Given the description of an element on the screen output the (x, y) to click on. 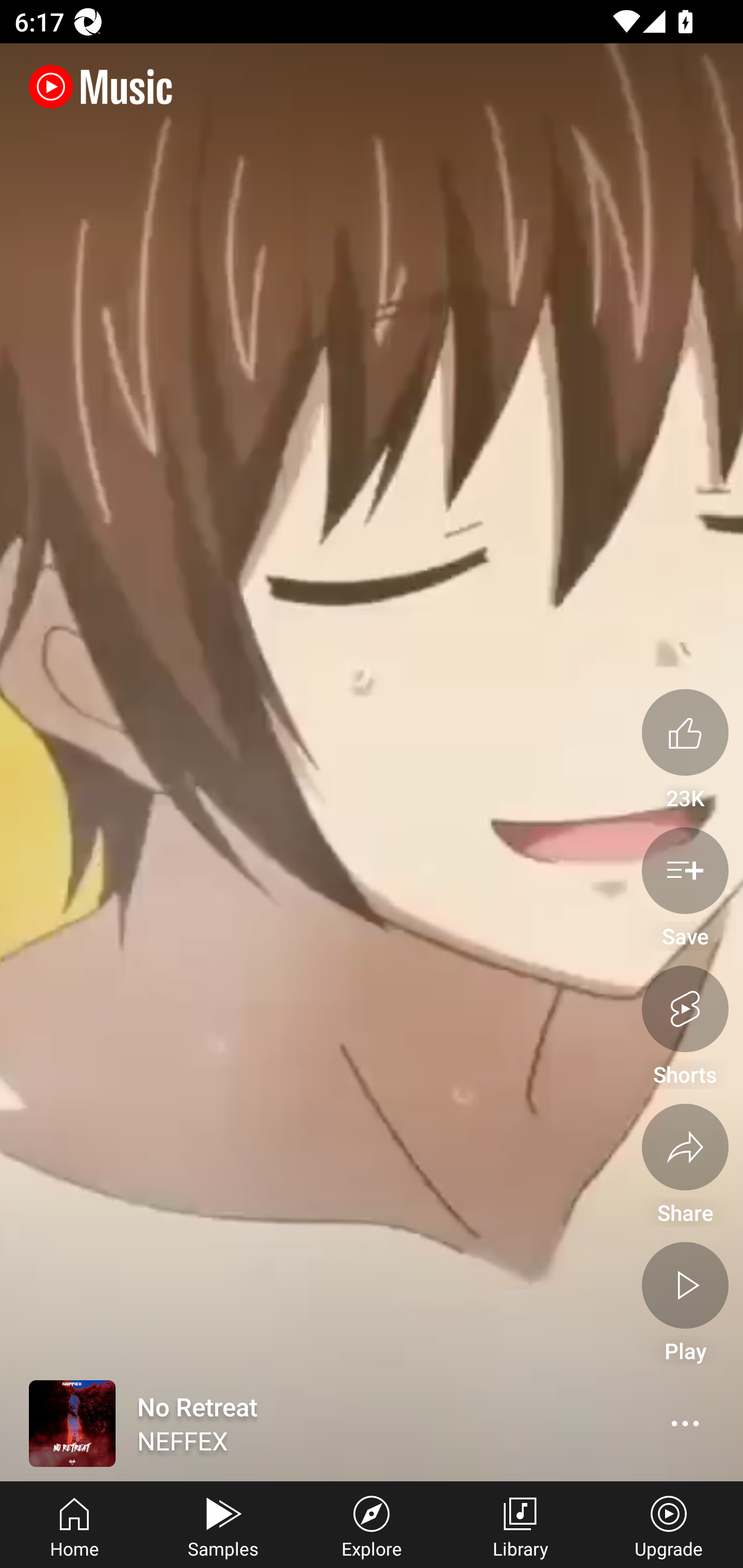
No Retreat (291, 1423)
Home (74, 1524)
Explore (371, 1524)
Library (519, 1524)
Upgrade (668, 1524)
